Given the description of an element on the screen output the (x, y) to click on. 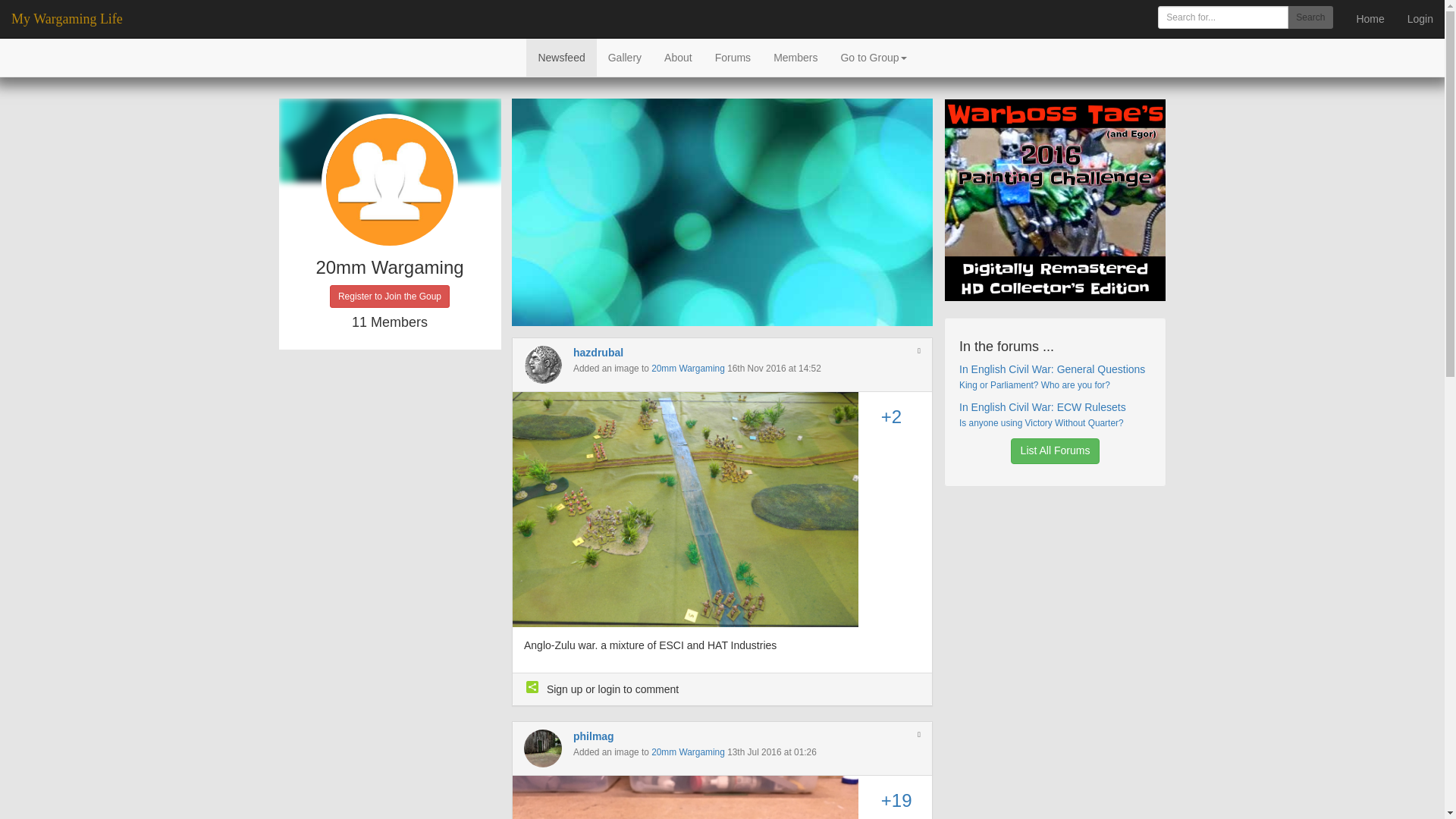
20mm Wargaming (687, 368)
Search (1310, 16)
Go to Group (872, 57)
20mm Wargaming (687, 751)
Forums (732, 57)
hazdrubal (598, 352)
My Wargaming Life (66, 18)
Home (1368, 18)
Register to Join the Goup (389, 296)
Members (794, 57)
Gallery (624, 57)
philmag (593, 736)
About (677, 57)
Newsfeed (560, 57)
